Given the description of an element on the screen output the (x, y) to click on. 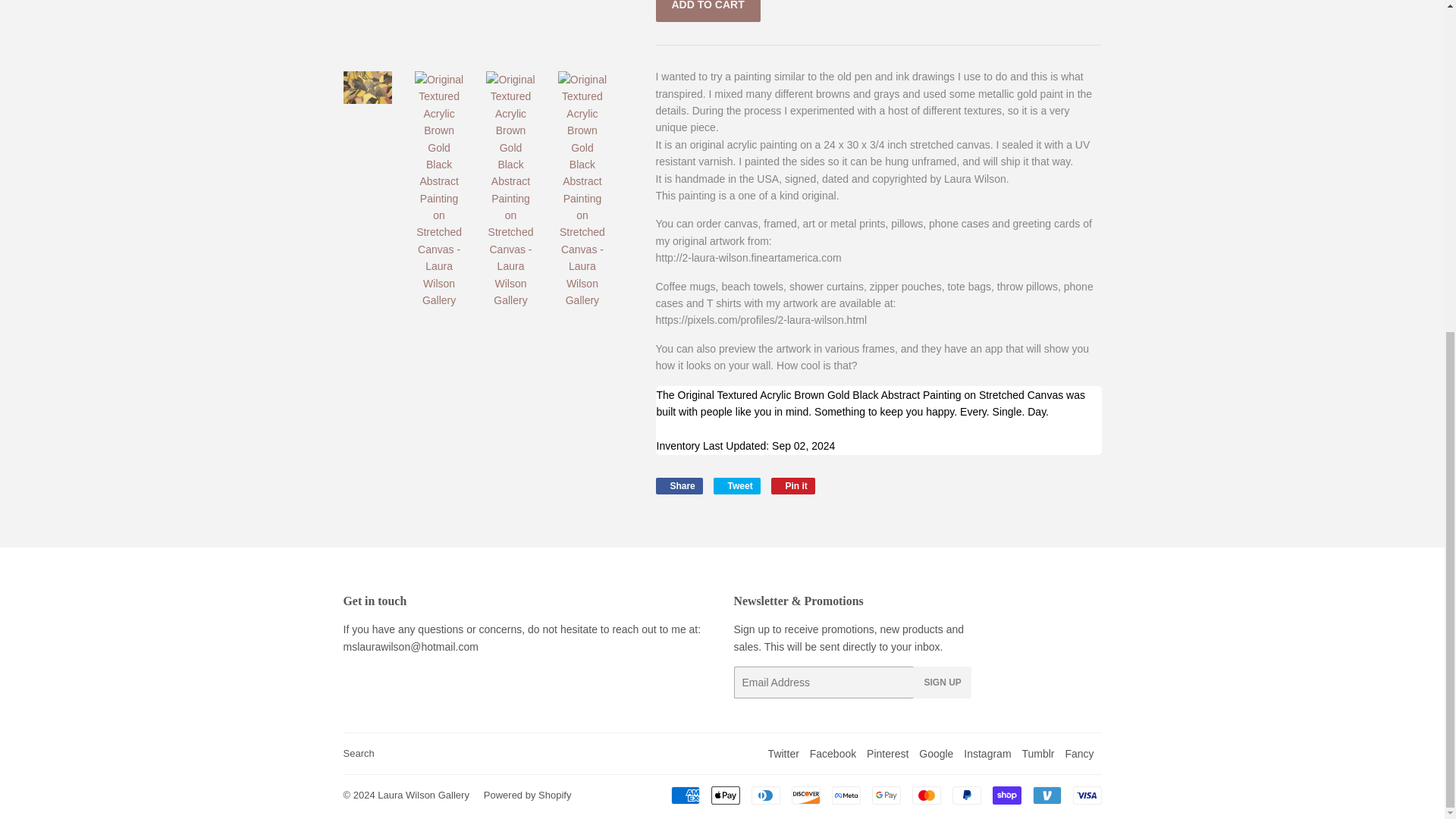
American Express (683, 795)
Laura Wilson Gallery  on Facebook (832, 753)
Pin on Pinterest (793, 485)
Shop Pay (1005, 795)
Google Pay (886, 795)
Laura Wilson Gallery  on Fancy (1078, 753)
Diners Club (764, 795)
Laura Wilson Gallery  on Pinterest (887, 753)
PayPal (966, 795)
Laura Wilson Gallery  on Tumblr (1038, 753)
